Given the description of an element on the screen output the (x, y) to click on. 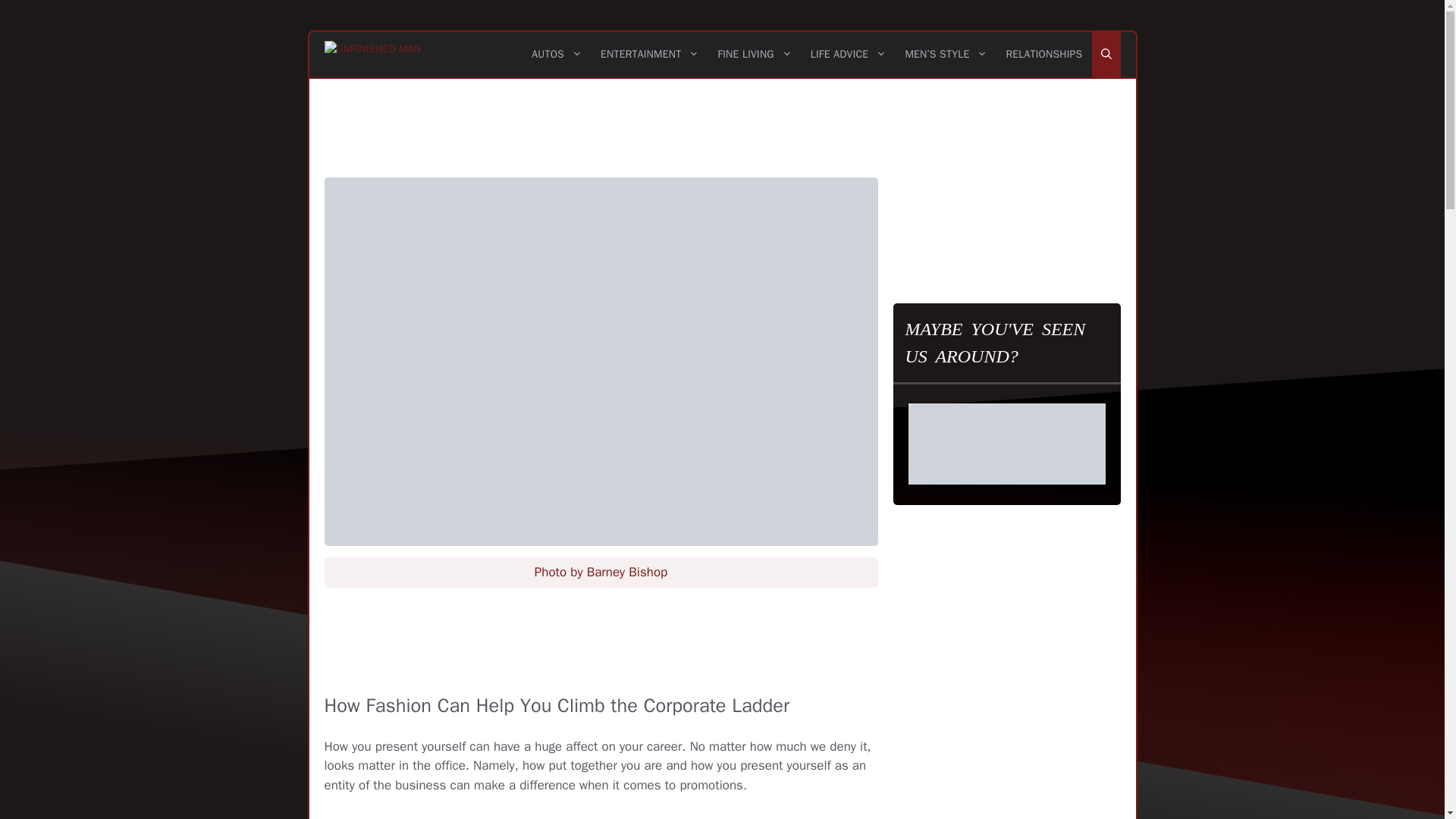
Unfinished Man (373, 53)
ENTERTAINMENT (649, 53)
AUTOS (556, 53)
